Given the description of an element on the screen output the (x, y) to click on. 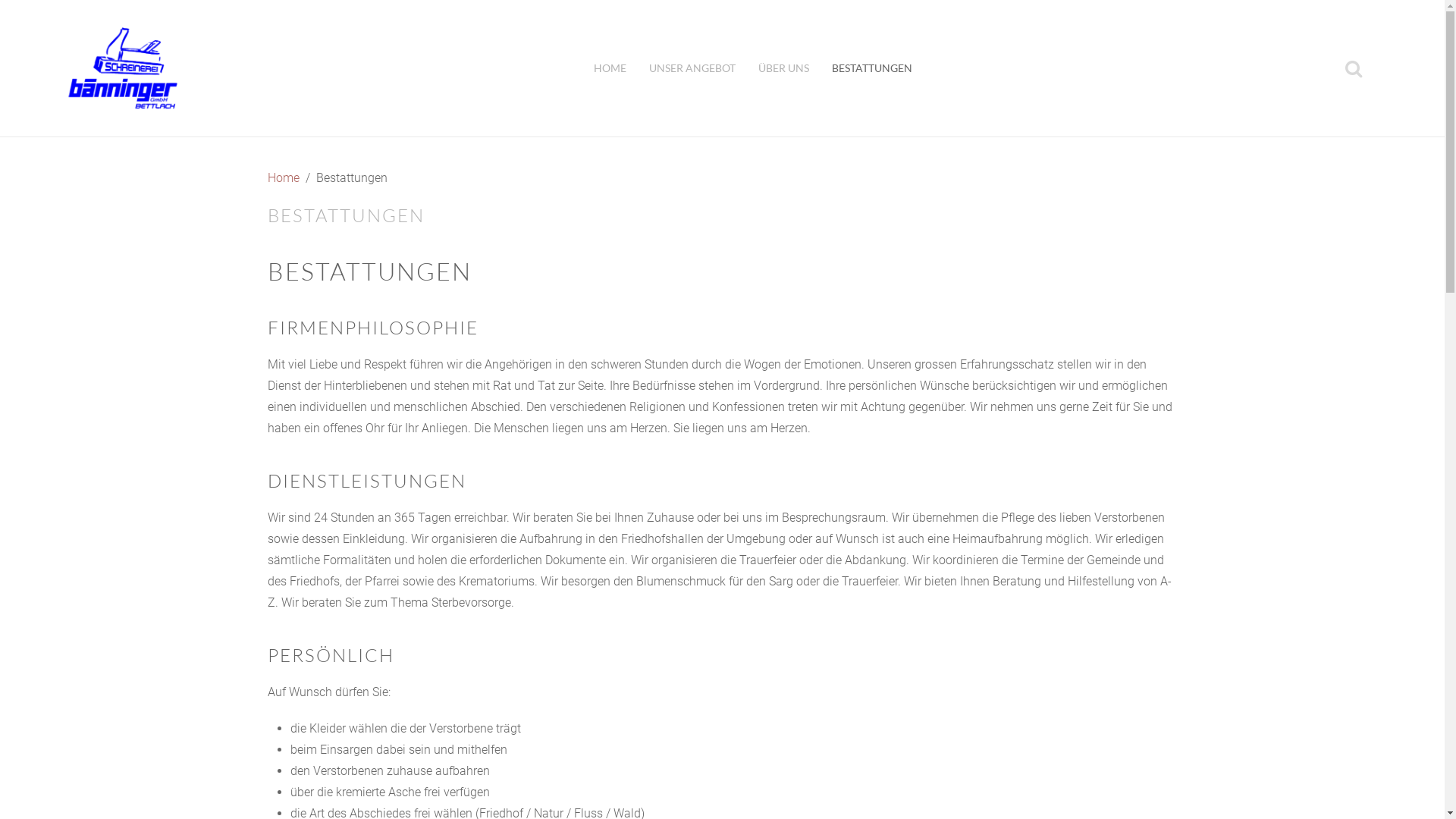
BESTATTUNGEN Element type: text (871, 68)
HOME Element type: text (609, 68)
Home Element type: text (282, 177)
UNSER ANGEBOT Element type: text (691, 68)
